Given the description of an element on the screen output the (x, y) to click on. 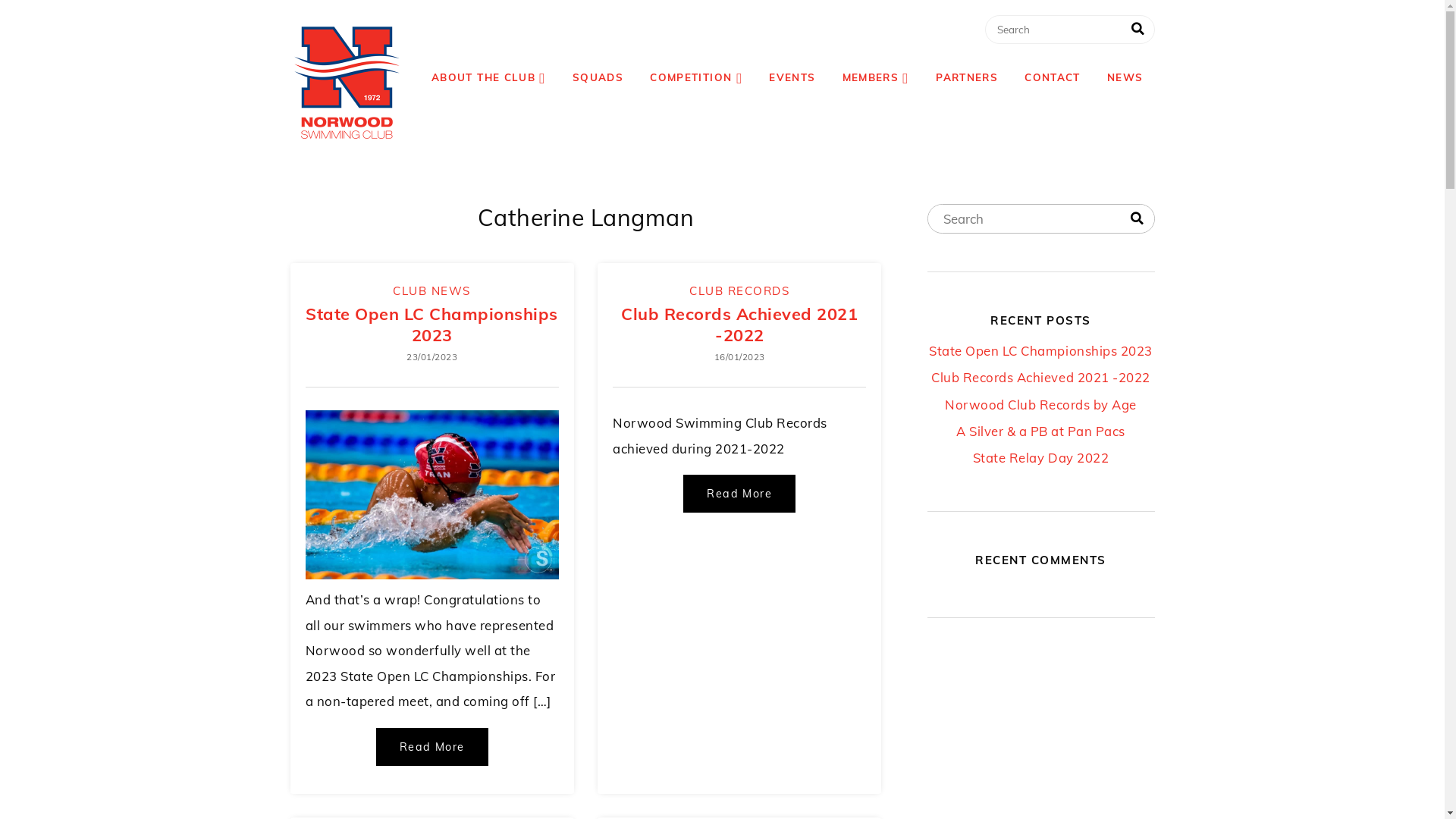
CONTACT Element type: text (1052, 76)
A Silver & a PB at Pan Pacs Element type: text (1040, 431)
EVENTS Element type: text (791, 76)
State Relay Day 2022 Element type: text (1040, 457)
CLUB NEWS Element type: text (431, 290)
State Open LC Championships 2023 Element type: text (431, 323)
Norwood Swimming Club Element type: hover (346, 82)
PARTNERS Element type: text (966, 76)
Club Records Achieved 2021 -2022 Element type: text (739, 323)
State Open LC Championships 2023 Element type: text (1039, 350)
Read More Element type: text (739, 493)
Read More Element type: text (432, 746)
COMPETITION Element type: text (695, 76)
NORWOOD SWIMMING CLUB Element type: text (522, 41)
Club Records Achieved 2021 -2022 Element type: text (1040, 377)
Norwood Club Records by Age Element type: text (1040, 404)
NEWS Element type: text (1124, 76)
CLUB RECORDS Element type: text (739, 290)
ABOUT THE CLUB Element type: text (488, 76)
SQUADS Element type: text (597, 76)
MEMBERS Element type: text (875, 76)
